Given the description of an element on the screen output the (x, y) to click on. 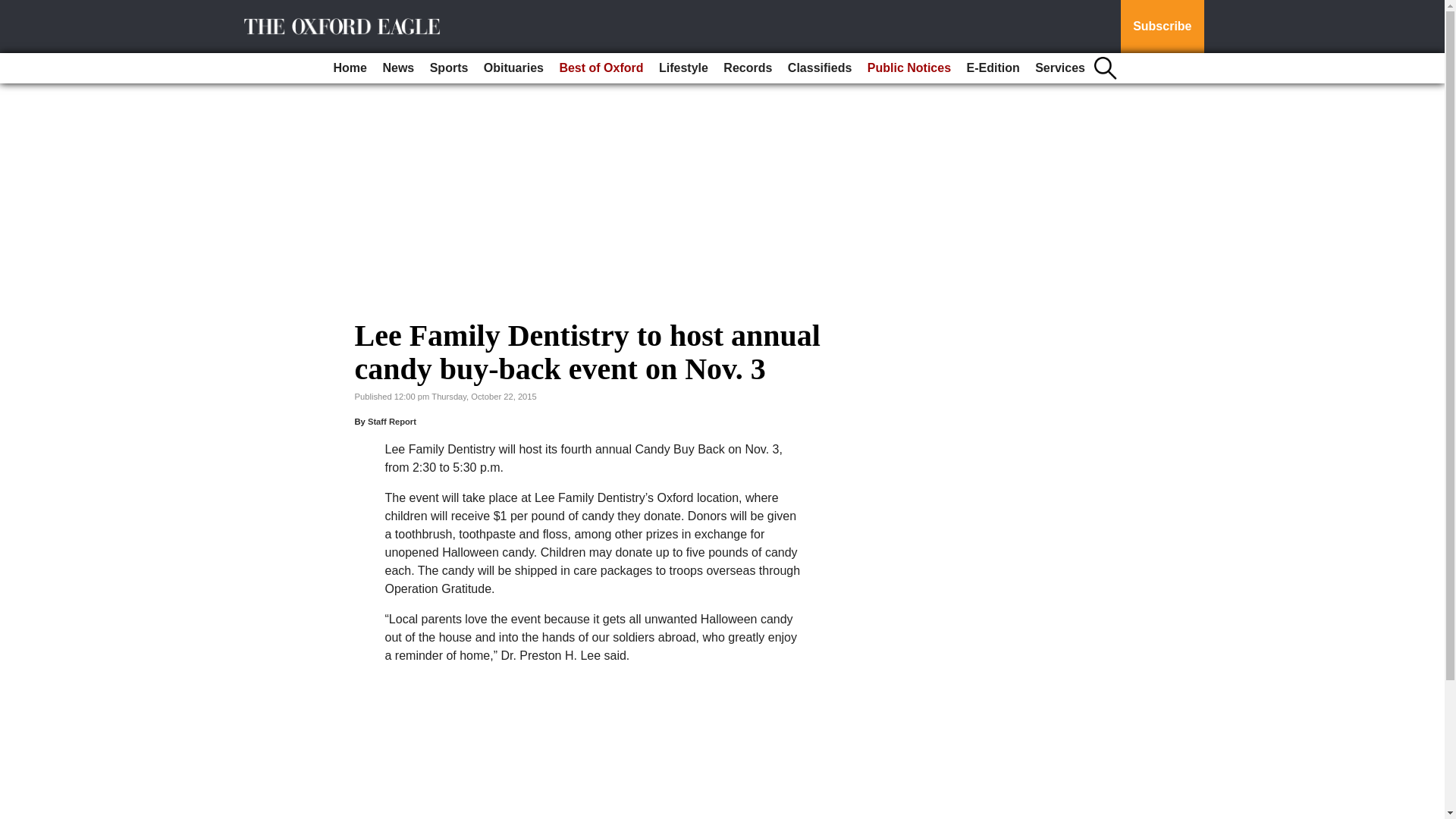
Lifestyle (683, 68)
Staff Report (392, 420)
Records (747, 68)
Sports (448, 68)
E-Edition (992, 68)
Go (13, 9)
Classifieds (819, 68)
News (397, 68)
Public Notices (908, 68)
Subscribe (1162, 26)
Services (1059, 68)
Obituaries (513, 68)
Best of Oxford (601, 68)
Home (349, 68)
